Given the description of an element on the screen output the (x, y) to click on. 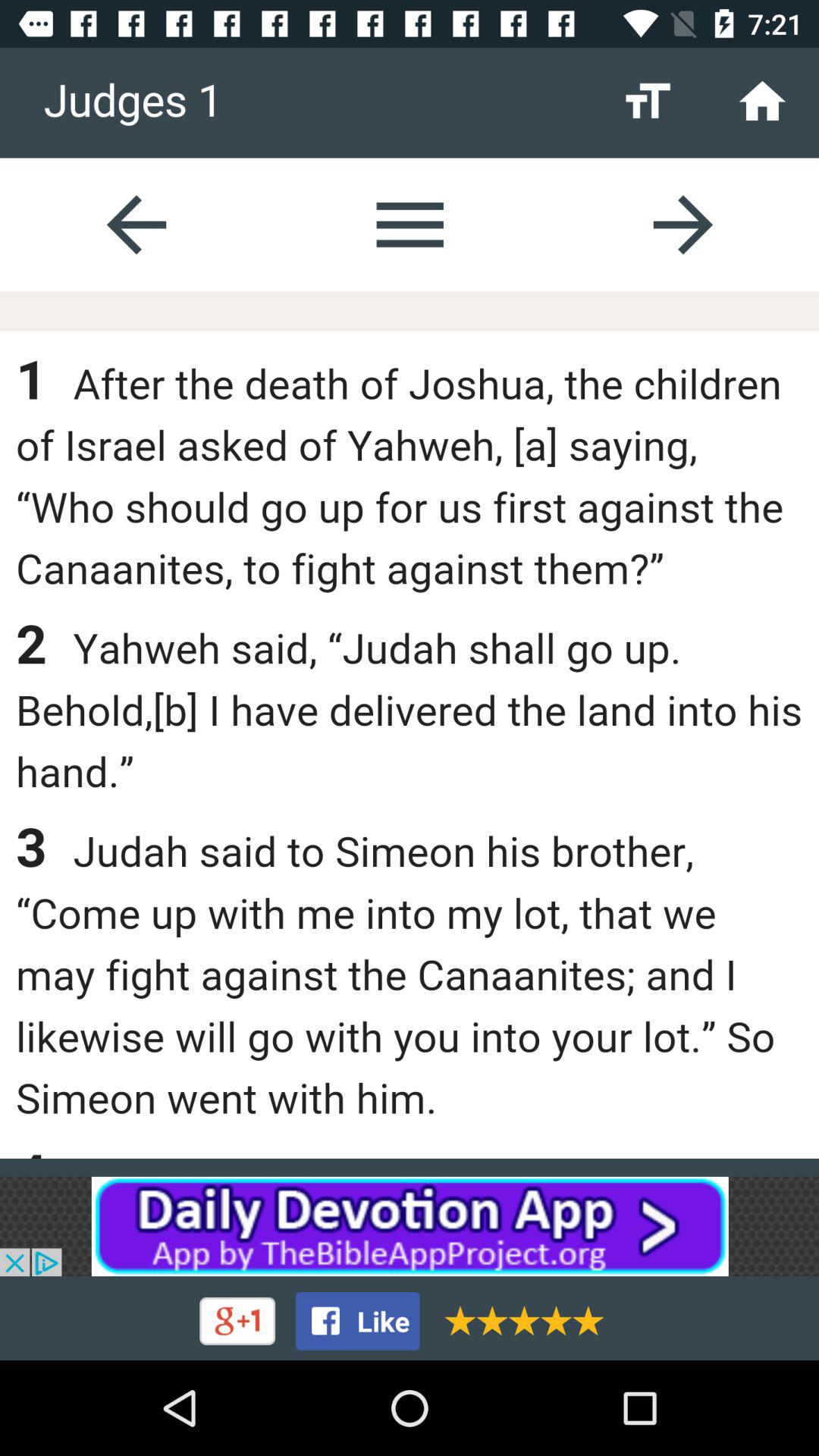
advertisement (409, 1226)
